Given the description of an element on the screen output the (x, y) to click on. 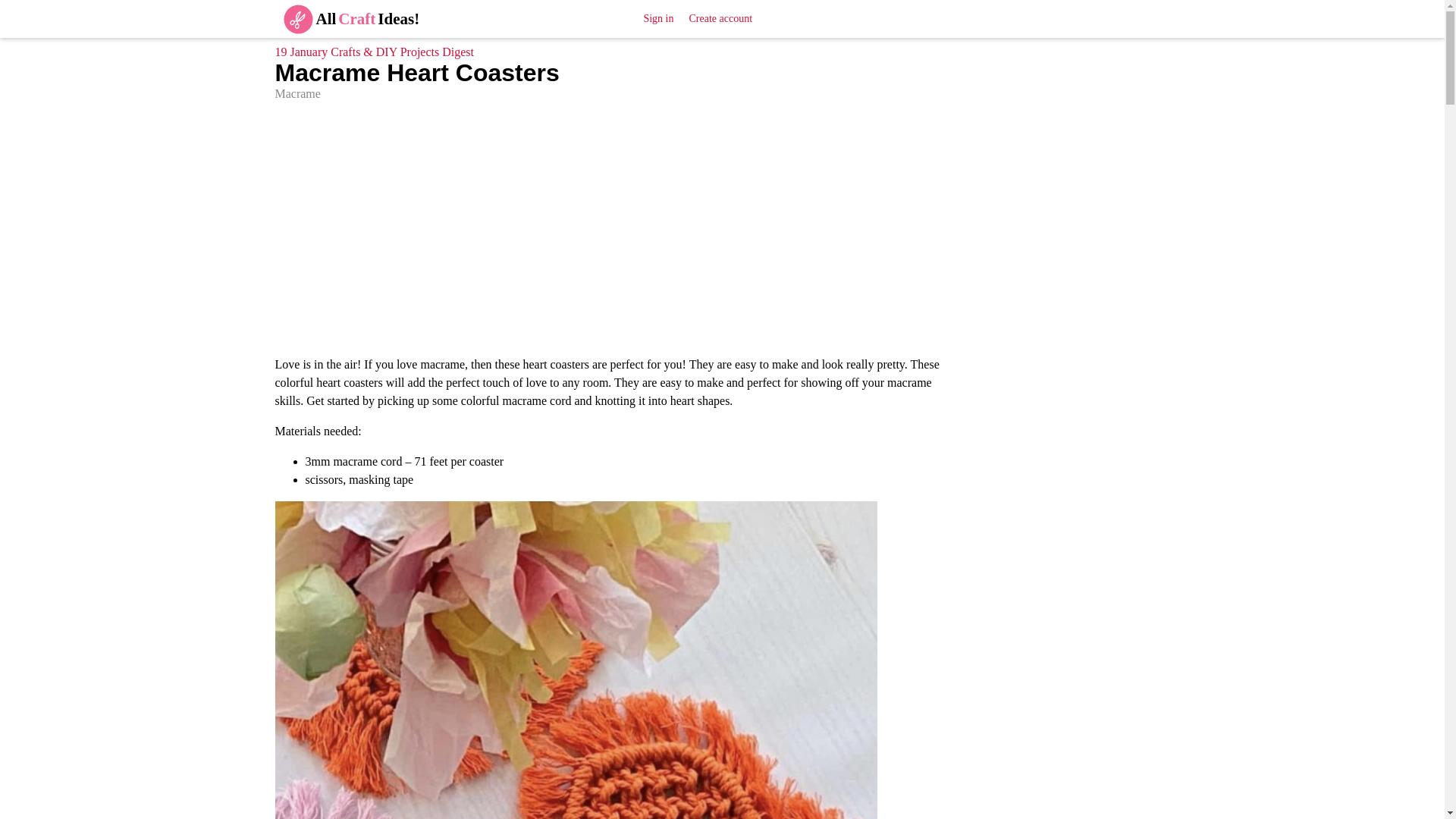
Create account (720, 18)
Create account (720, 18)
Sign in (657, 18)
Sign in (657, 18)
Macrame (297, 92)
AllCraftIdeas! (346, 18)
